Given the description of an element on the screen output the (x, y) to click on. 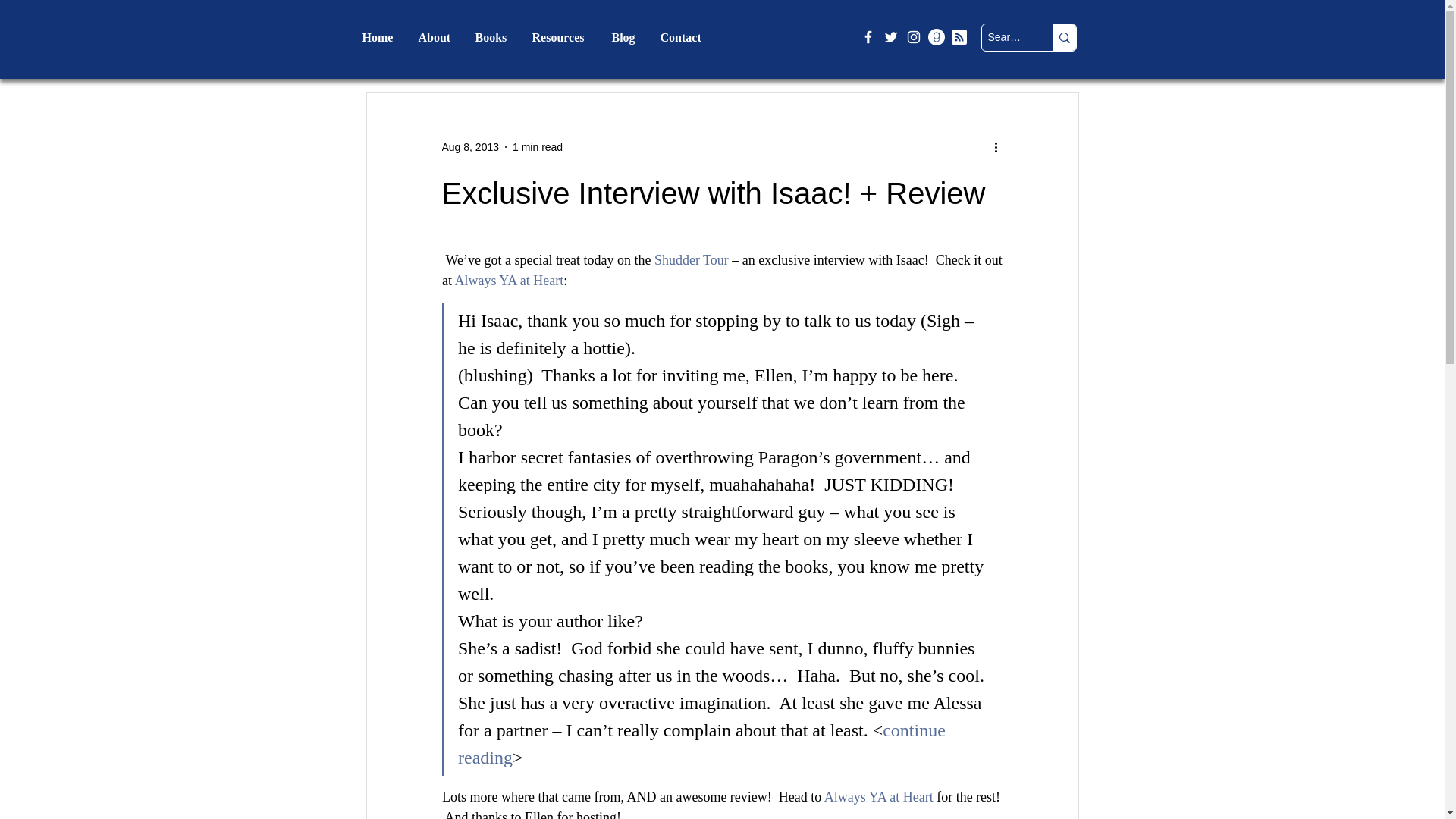
1 min read (537, 146)
Aug 8, 2013 (470, 146)
Blog (624, 36)
Contact (682, 36)
Always YA at Heart (508, 280)
Always YA at Heart (878, 796)
About (434, 36)
Home (378, 36)
Books (492, 36)
continue reading (704, 743)
